Given the description of an element on the screen output the (x, y) to click on. 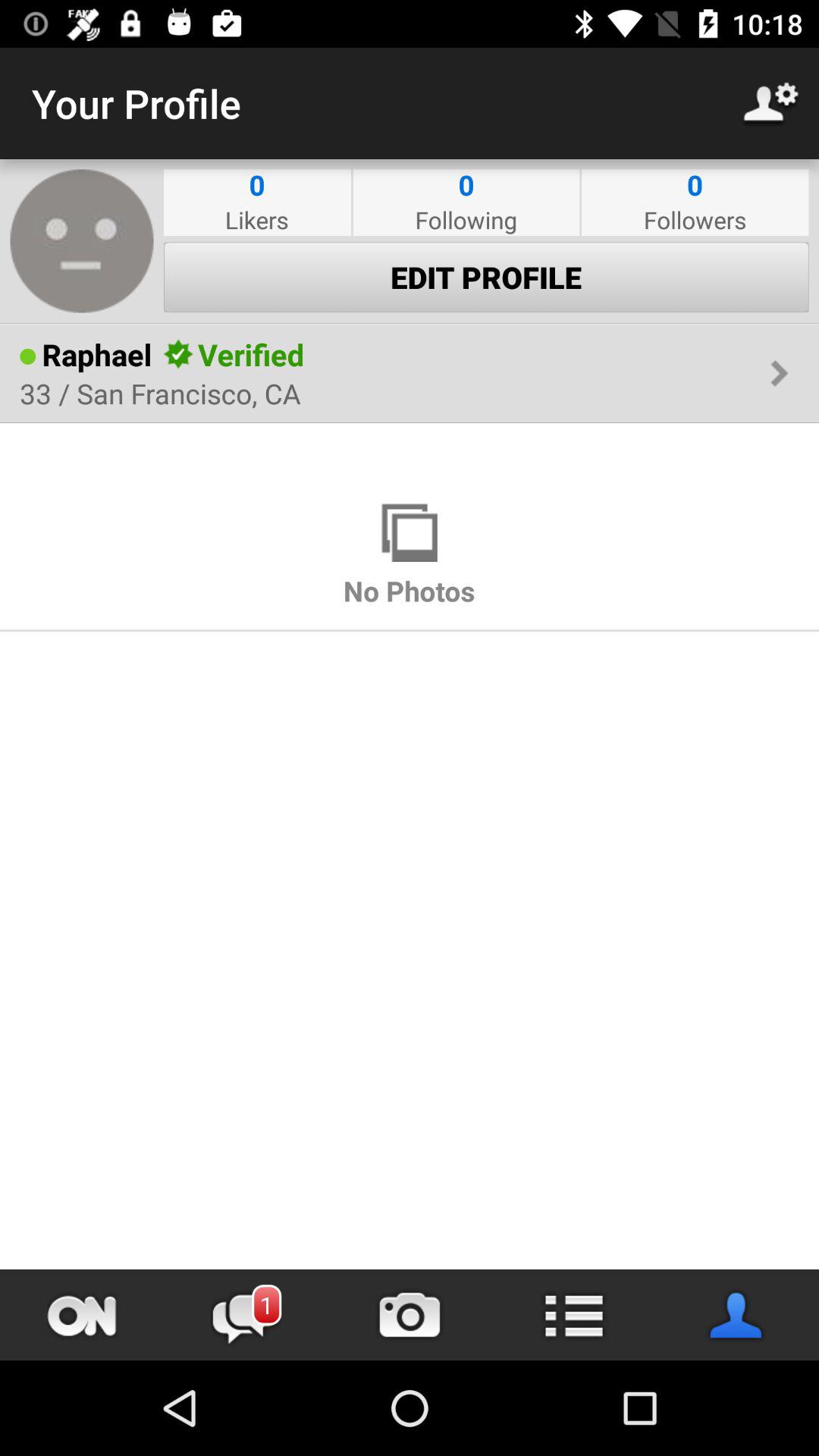
take a picture (409, 1315)
